Given the description of an element on the screen output the (x, y) to click on. 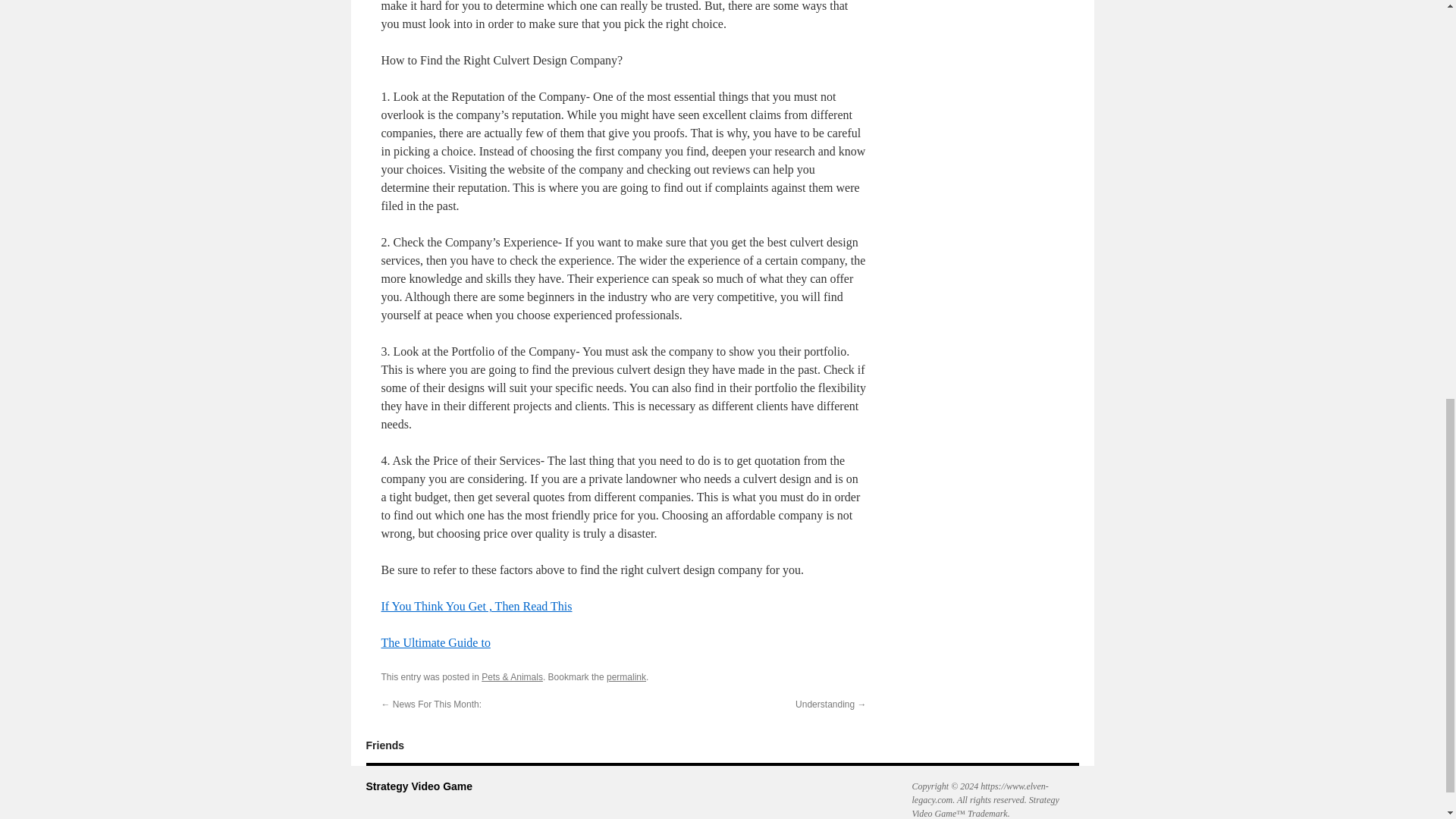
Permalink to : 10 Mistakes that Most People Make (626, 676)
The Ultimate Guide to (434, 642)
If You Think You Get , Then Read This (476, 605)
Strategy Video Game (418, 786)
permalink (626, 676)
Strategy Video Game (418, 786)
